Given the description of an element on the screen output the (x, y) to click on. 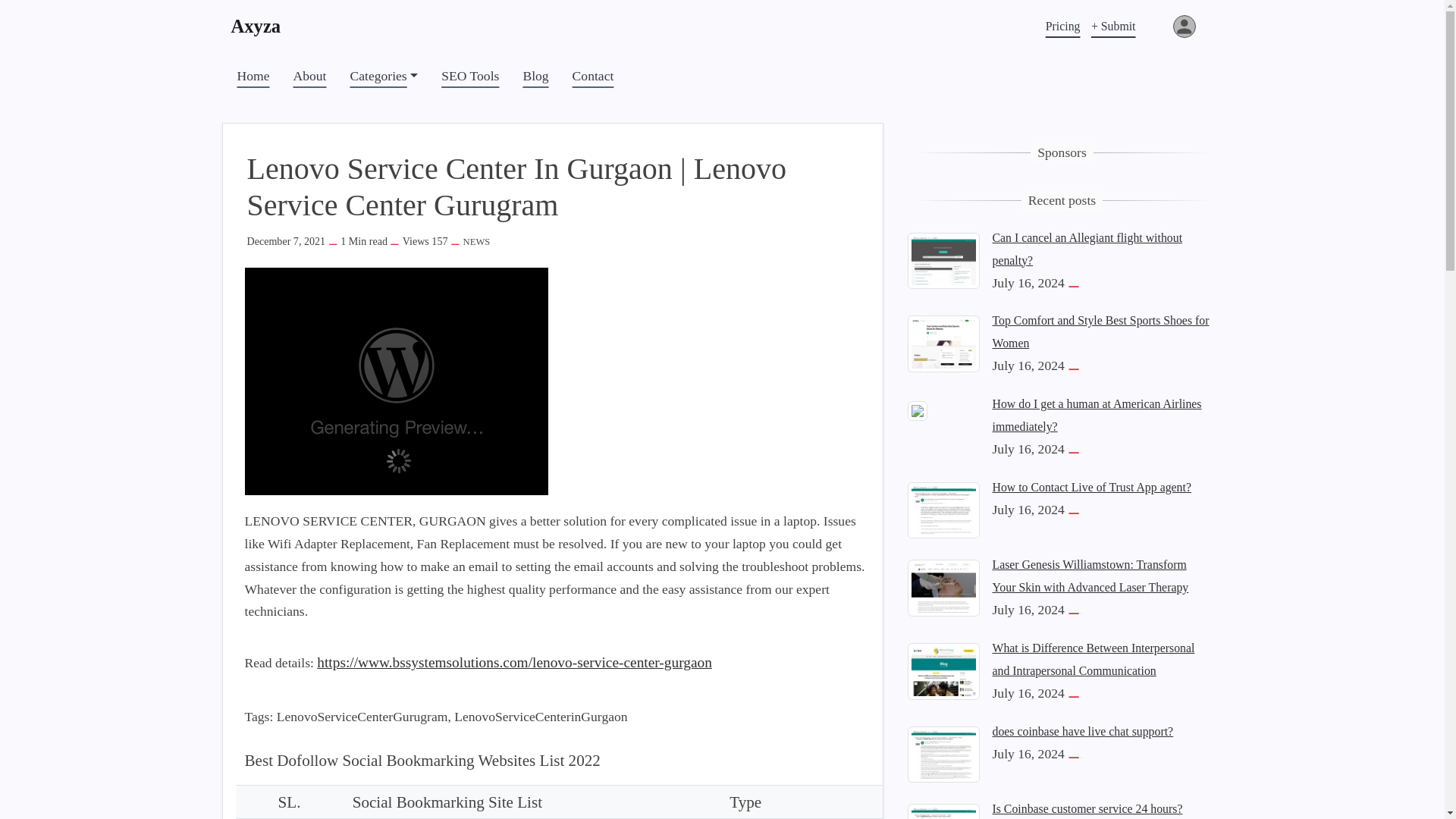
About (308, 76)
Contact (593, 76)
Categories (383, 76)
NEWS (476, 241)
How do I get a human at American Airlines immediately? (1096, 415)
Top Comfort and Style Best Sports Shoes for Women (1099, 331)
How do I get a human at American Airlines immediately? (916, 409)
Axyza (262, 25)
Top Comfort and Style Best Sports Shoes for Women (943, 342)
Home (252, 76)
Pricing (1063, 25)
Can I cancel an Allegiant flight without penalty? (943, 258)
Blog (535, 76)
Can I cancel an Allegiant flight without penalty? (1086, 248)
SEO Tools (470, 76)
